Given the description of an element on the screen output the (x, y) to click on. 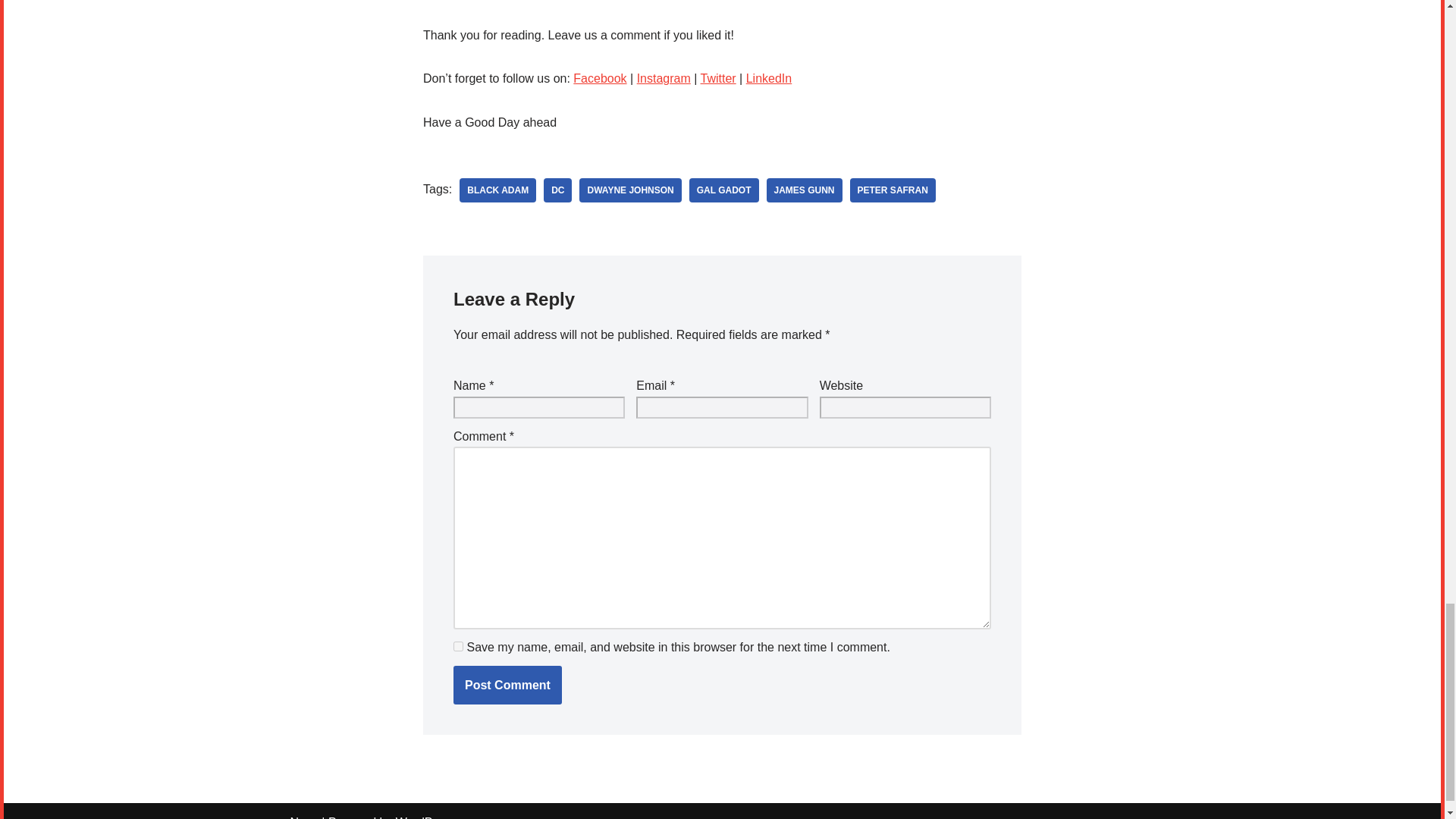
Dwayne Johnson (630, 190)
Black Adam (497, 190)
Facebook (599, 78)
GAL GADOT (723, 190)
Peter Safran (893, 190)
DC (557, 190)
Twitter (718, 78)
BLACK ADAM (497, 190)
Post Comment (507, 685)
DC (557, 190)
